Given the description of an element on the screen output the (x, y) to click on. 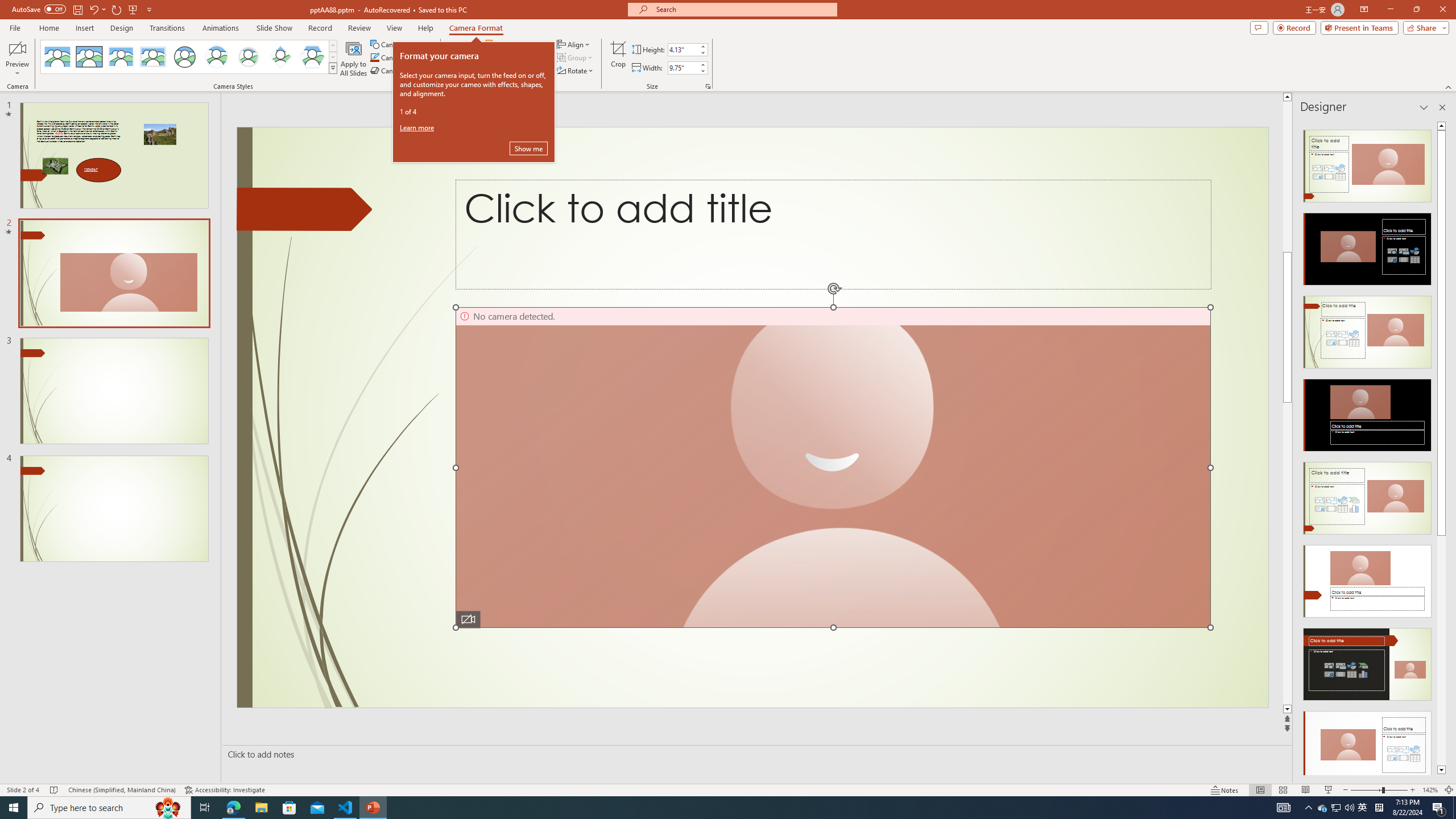
Camera Border (401, 56)
Camera Format (475, 28)
Zoom 142% (1430, 790)
Class: NetUIScrollBar (1441, 447)
Learn more (418, 127)
Send Backward (518, 56)
Center Shadow Rectangle (120, 56)
Apply to All Slides (353, 58)
